Given the description of an element on the screen output the (x, y) to click on. 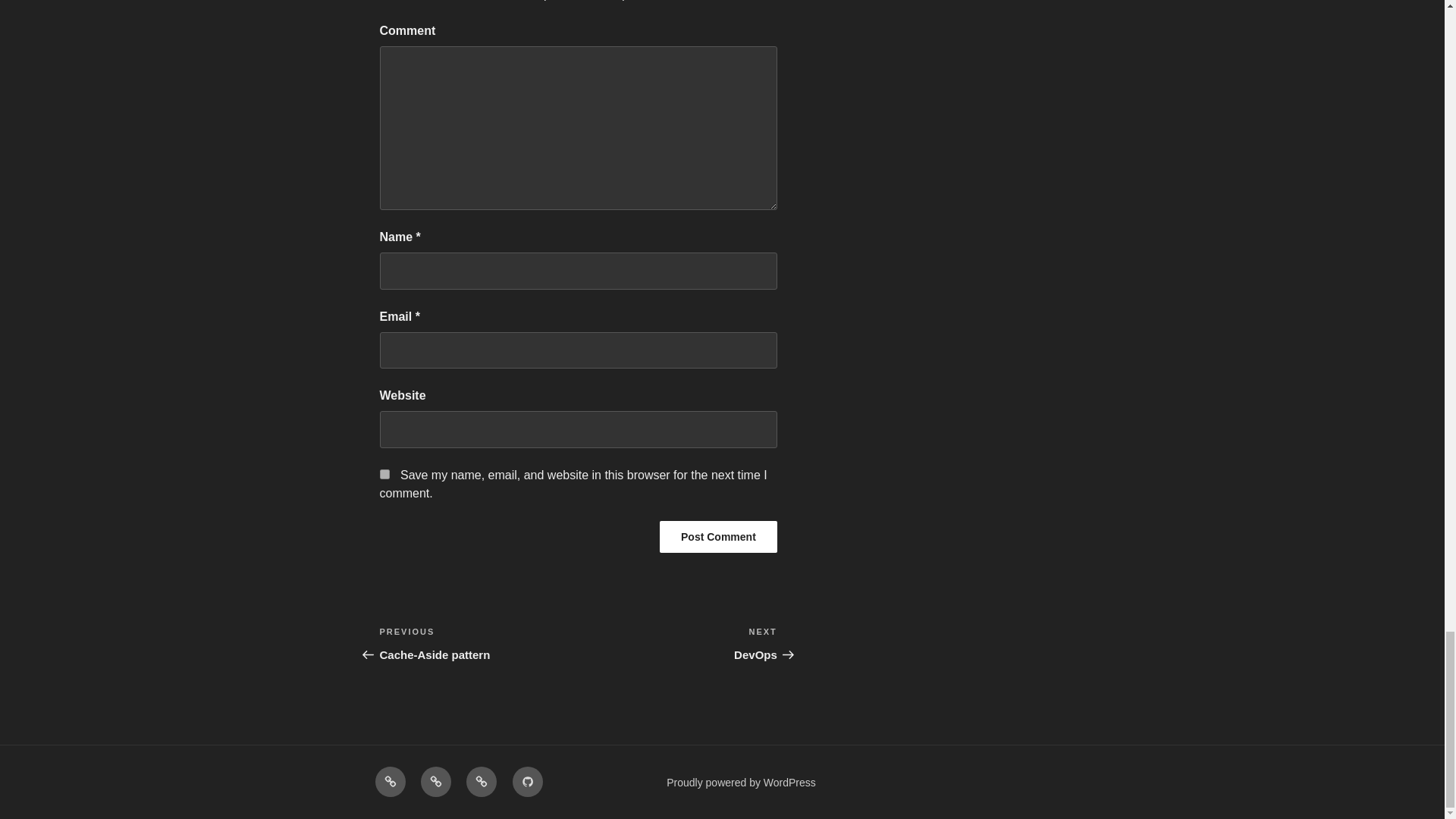
Post Comment (718, 536)
Home (389, 781)
Post Comment (478, 643)
yes (718, 536)
